Given the description of an element on the screen output the (x, y) to click on. 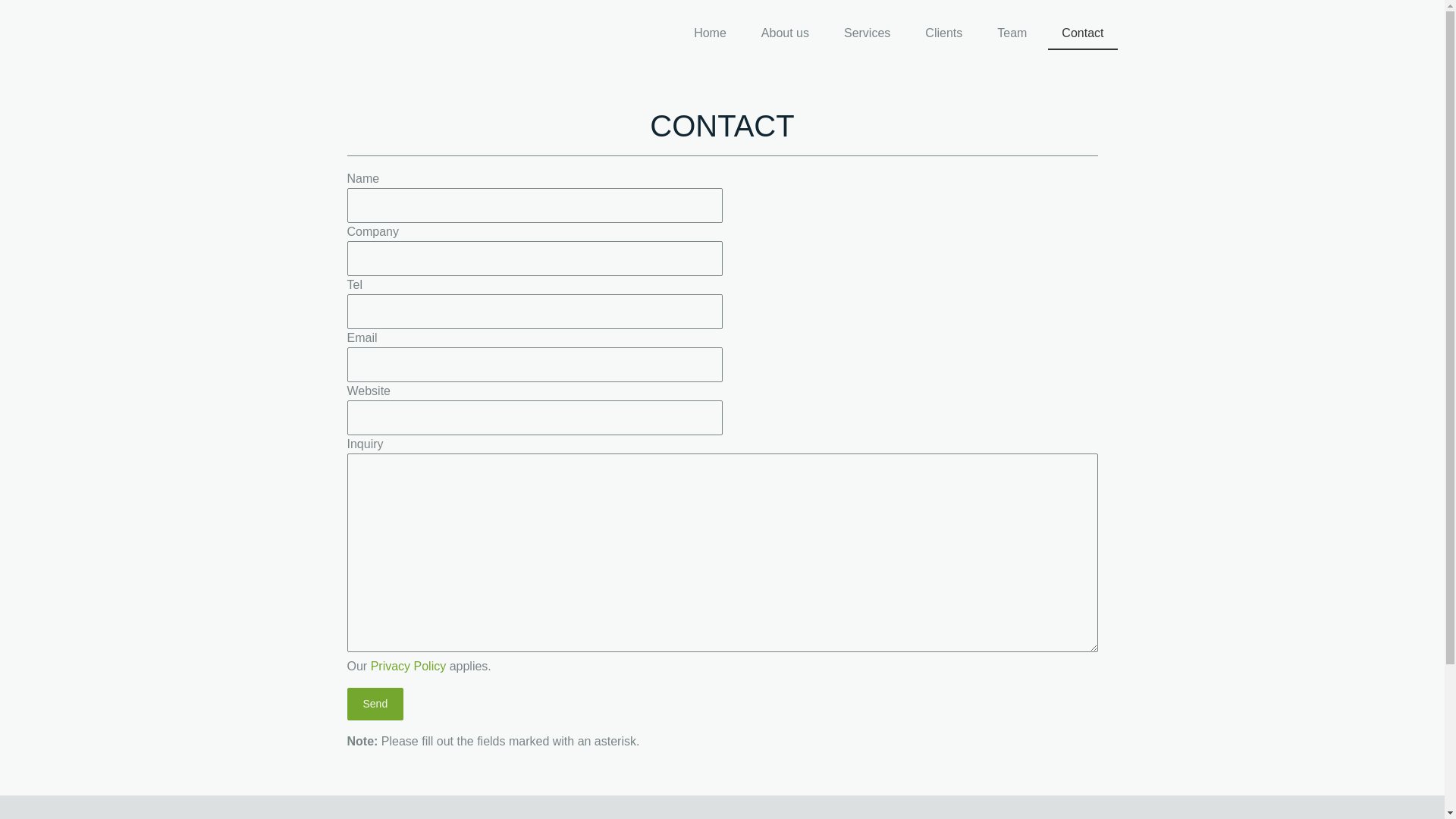
Clients Element type: text (943, 34)
Services Element type: text (866, 34)
About us Element type: text (784, 34)
Contact Element type: text (1082, 34)
Send Element type: text (375, 703)
Team Element type: text (1011, 34)
Home Element type: text (710, 34)
Privacy Policy Element type: text (408, 665)
